Given the description of an element on the screen output the (x, y) to click on. 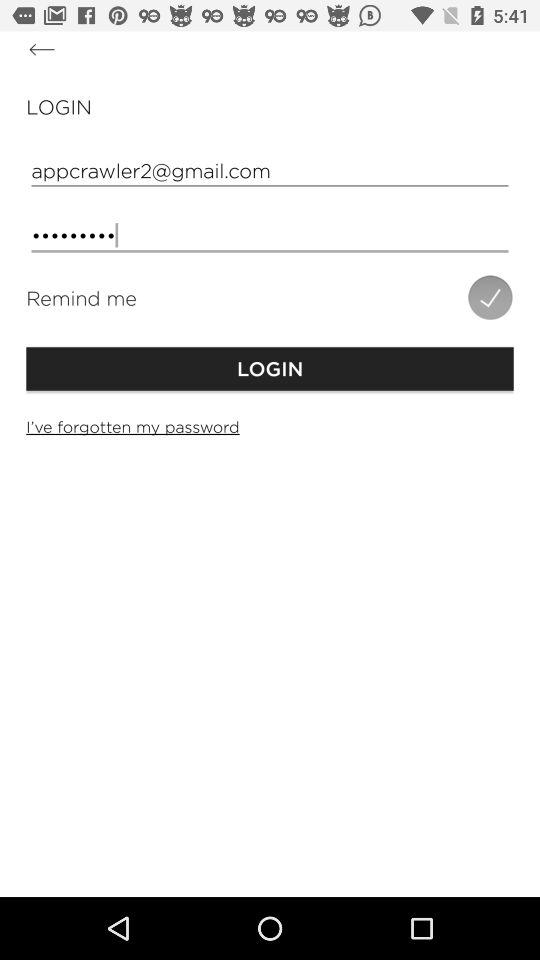
turn on item below the appcrawler2@gmail.com (269, 235)
